Given the description of an element on the screen output the (x, y) to click on. 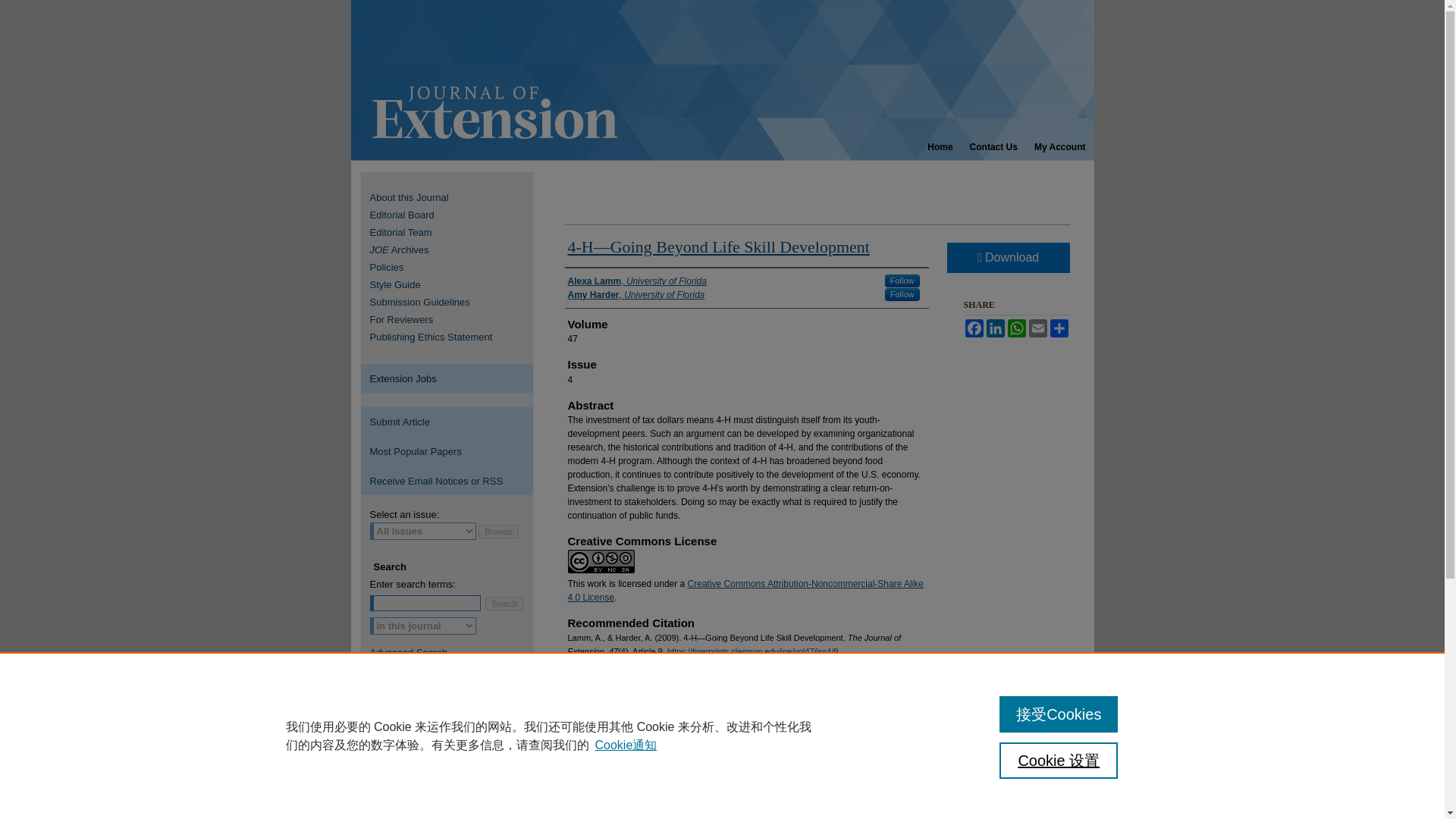
Download (634, 728)
Contact Us (993, 146)
Alexa Lamm, University of Florida (636, 281)
Editorial Team (454, 232)
Facebook (973, 328)
Download (1007, 257)
The Journal of Extension (721, 80)
My Account (1060, 146)
Follow (902, 280)
Browse (498, 531)
Contact Us (993, 146)
Home (939, 146)
My Account (1060, 146)
About this Journal (454, 197)
Home (939, 146)
